Given the description of an element on the screen output the (x, y) to click on. 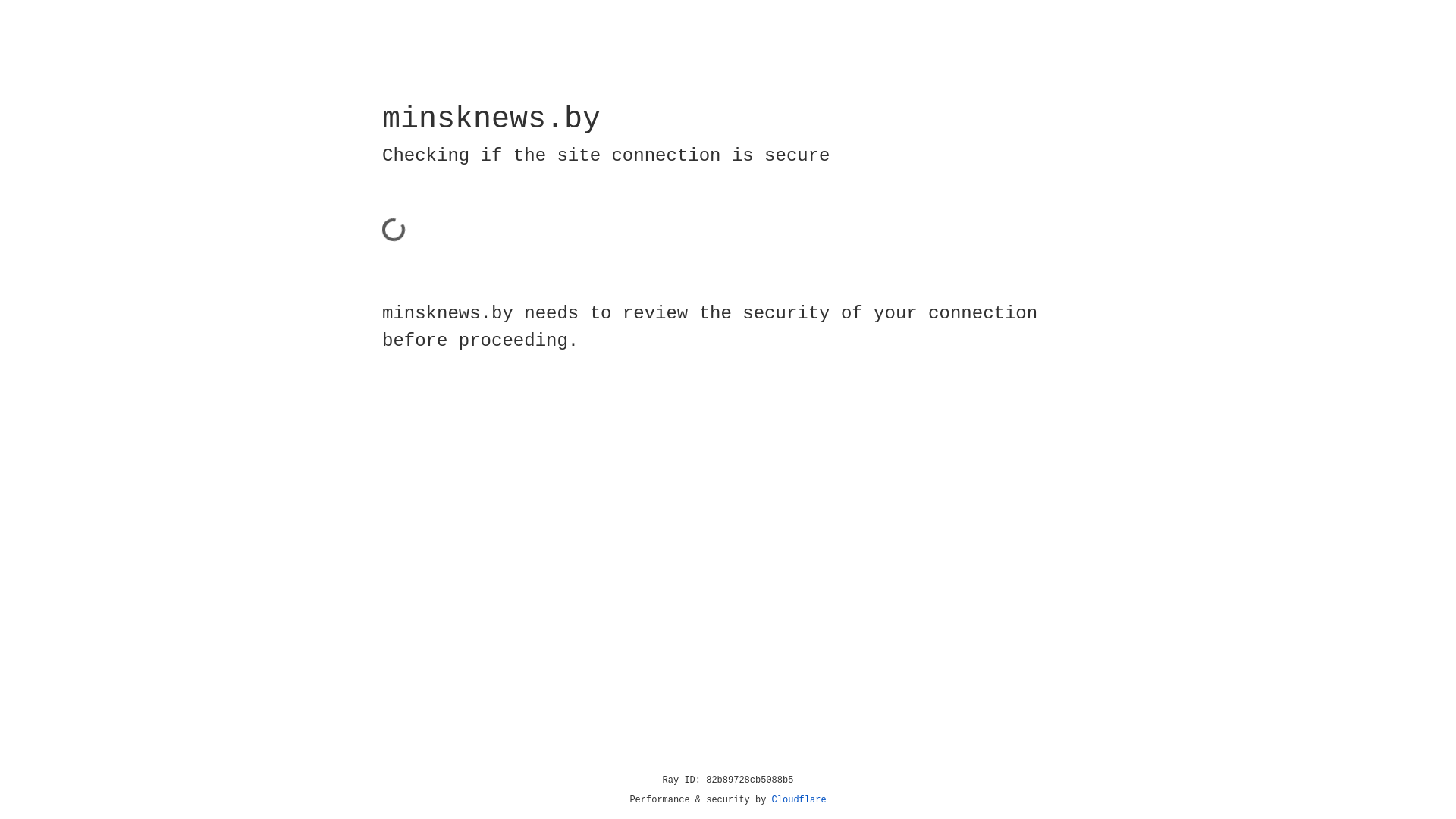
Cloudflare Element type: text (798, 799)
